Given the description of an element on the screen output the (x, y) to click on. 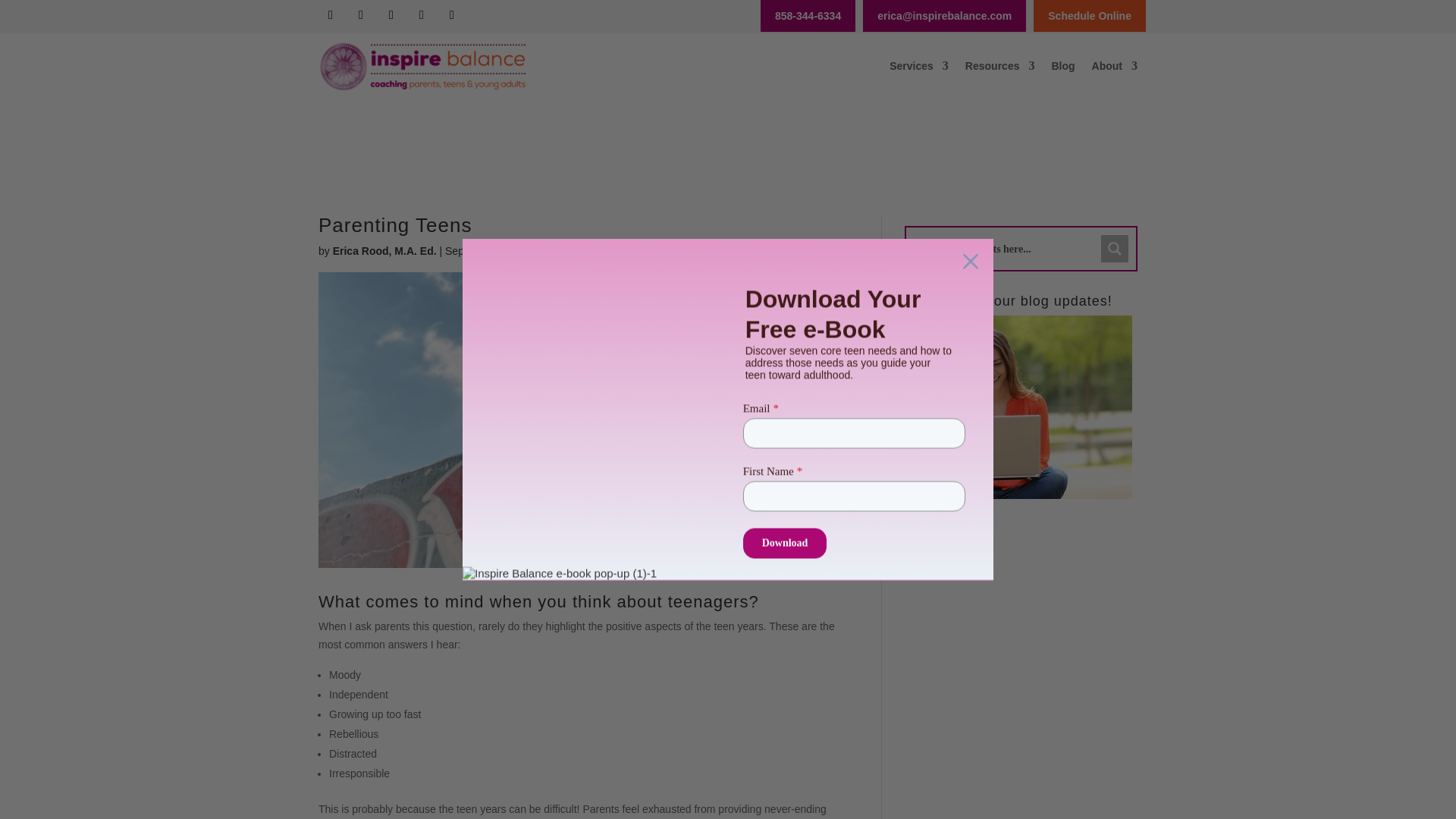
Follow on TikTok (360, 15)
Follow on LinkedIn (390, 15)
Schedule Online (1089, 15)
Follow on Facebook (330, 15)
Follow on Instagram (451, 15)
858-344-6334 (807, 15)
Services (919, 65)
Posts by Erica Rood, M.A. Ed. (384, 250)
Follow on Youtube (421, 15)
Resources (1000, 65)
